Given the description of an element on the screen output the (x, y) to click on. 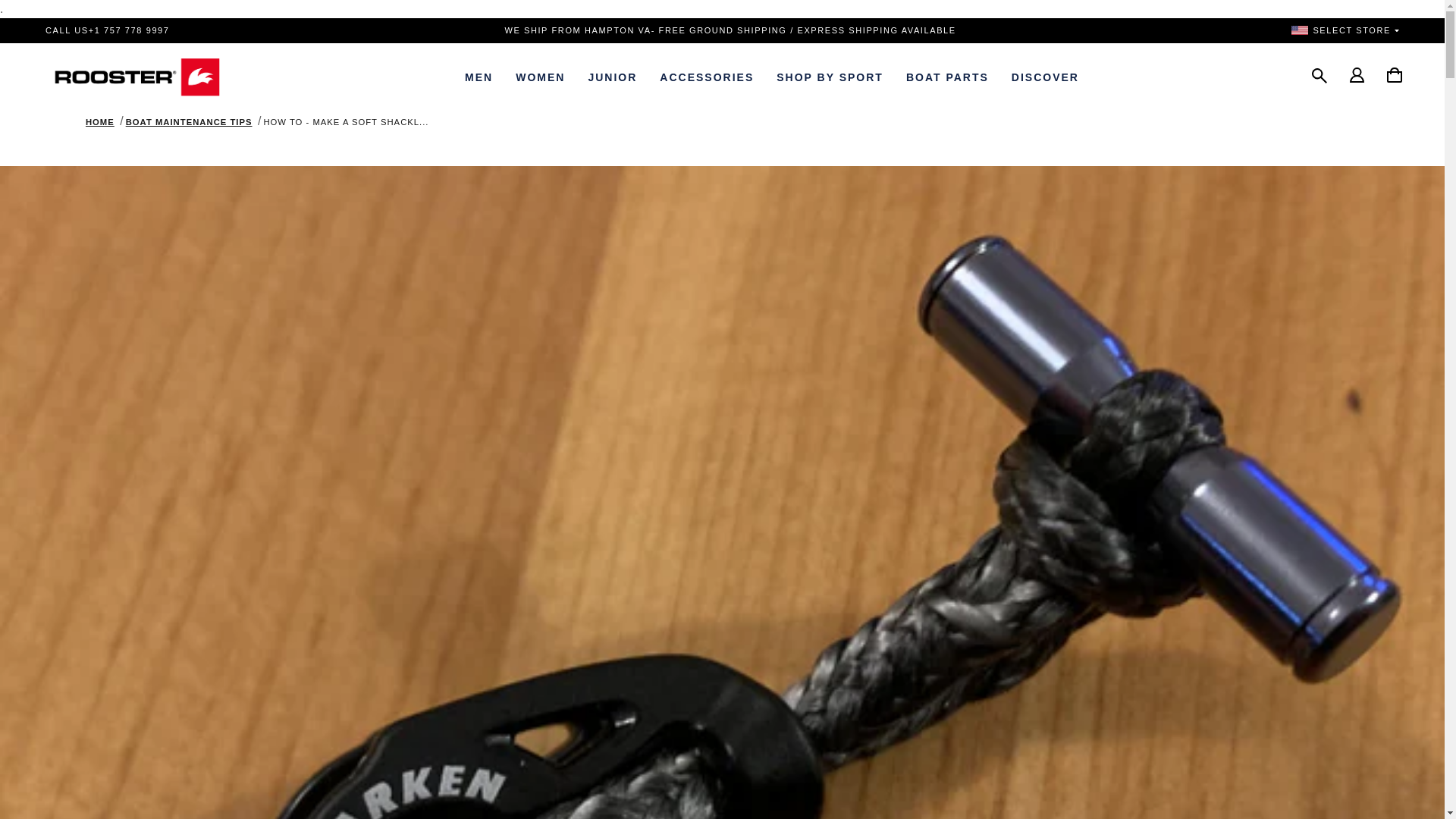
Men (477, 76)
Accessories (706, 76)
Discover (1045, 76)
Junior (611, 76)
Women (539, 76)
MEN (477, 76)
Shop by sport (830, 76)
Boat parts (947, 76)
